Given the description of an element on the screen output the (x, y) to click on. 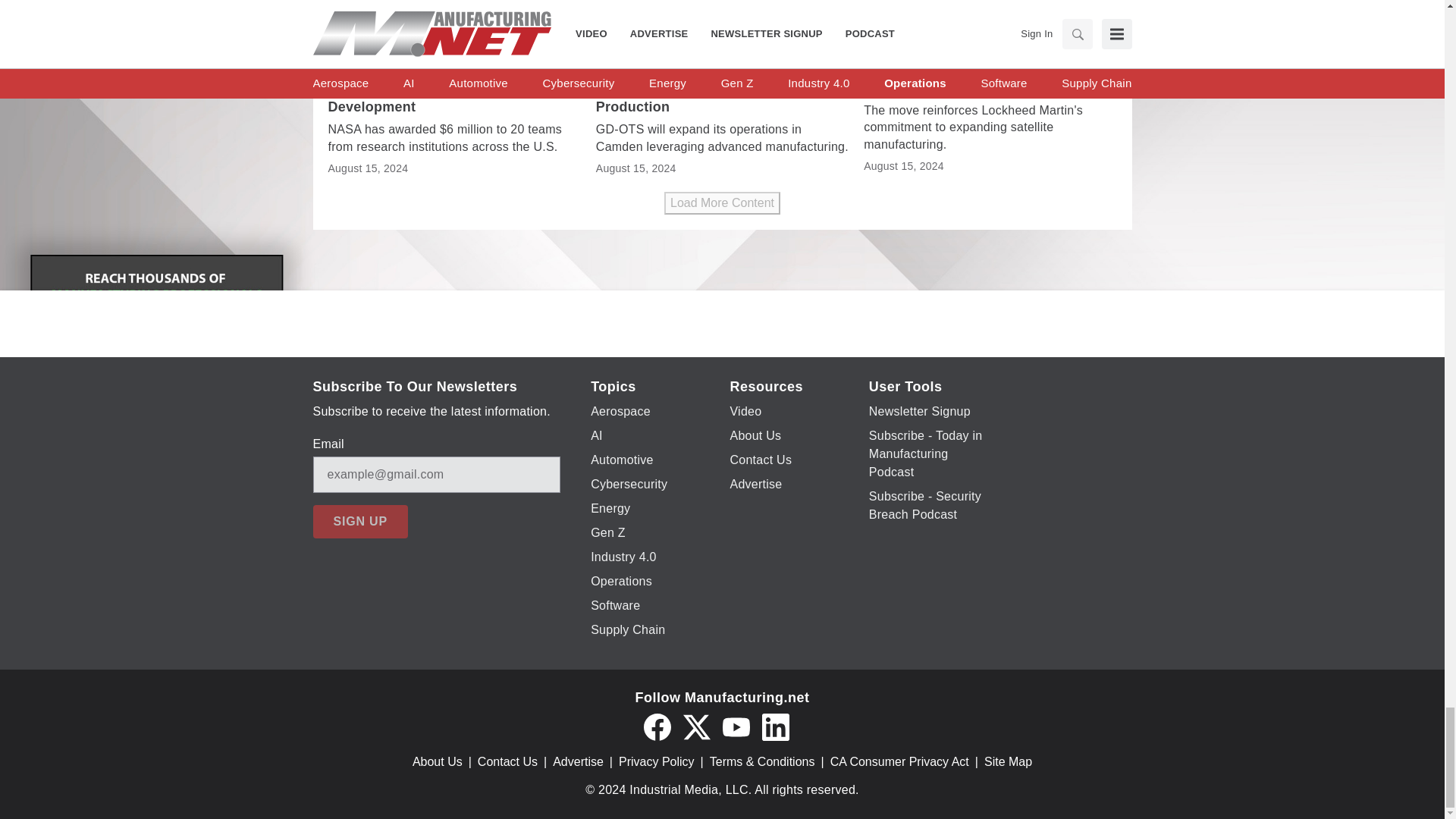
Facebook icon (656, 727)
LinkedIn icon (775, 727)
Twitter X icon (696, 727)
YouTube icon (735, 727)
